Given the description of an element on the screen output the (x, y) to click on. 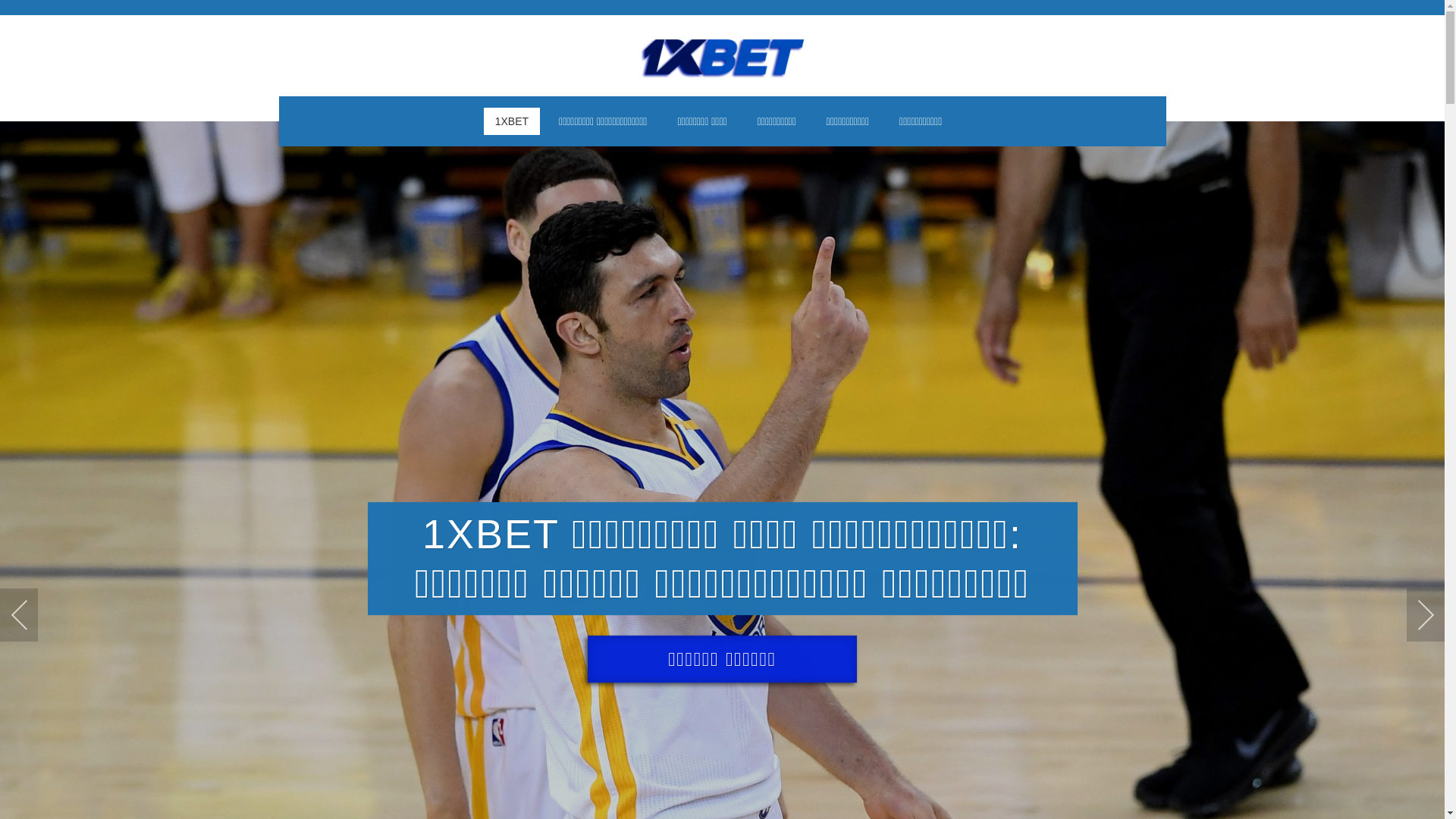
1XBET Element type: text (511, 120)
